Given the description of an element on the screen output the (x, y) to click on. 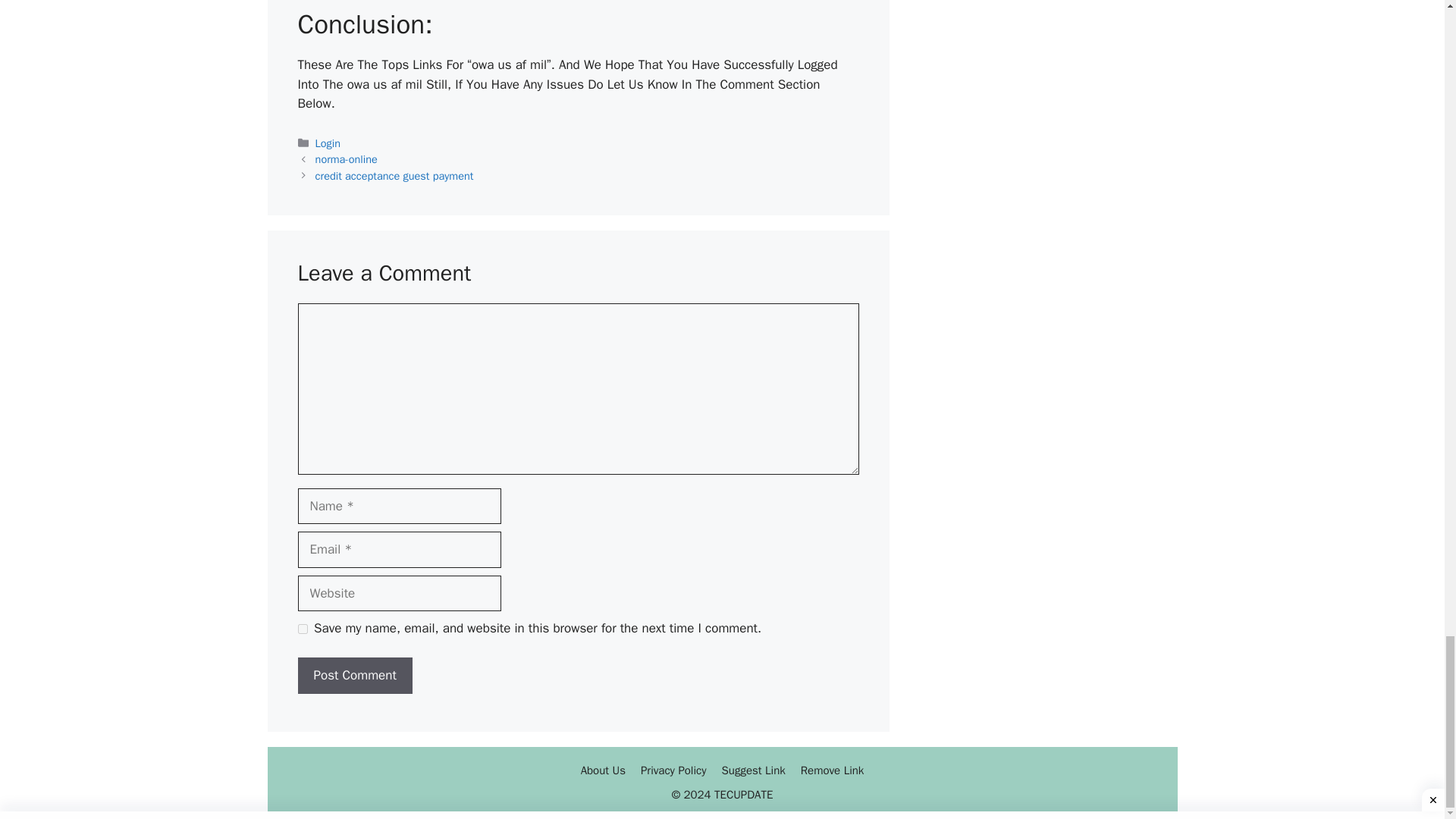
Login (327, 142)
Post Comment (354, 675)
yes (302, 628)
credit acceptance guest payment (394, 175)
norma-online (346, 159)
